Given the description of an element on the screen output the (x, y) to click on. 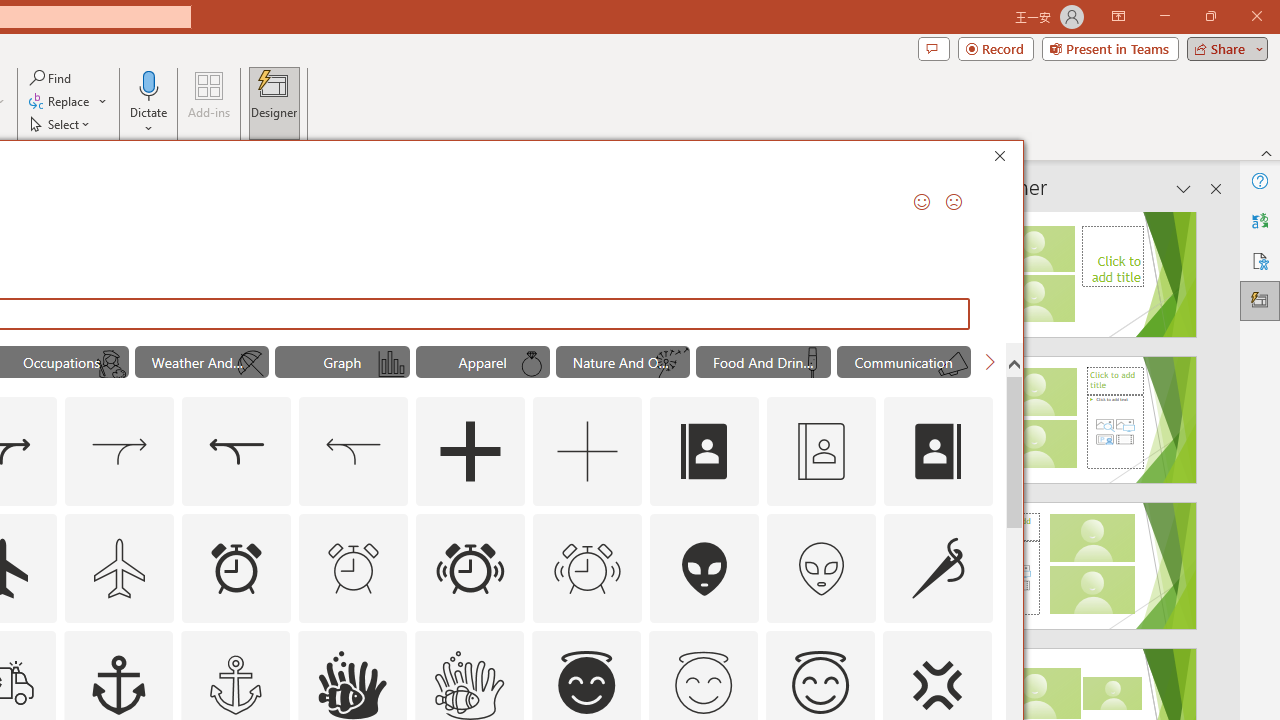
"Nature And Outdoors" Icons. (622, 362)
AutomationID: Icons_Acquisition_LTR_M (120, 452)
outline (820, 685)
AutomationID: Icons_Champagne_M (812, 364)
